Given the description of an element on the screen output the (x, y) to click on. 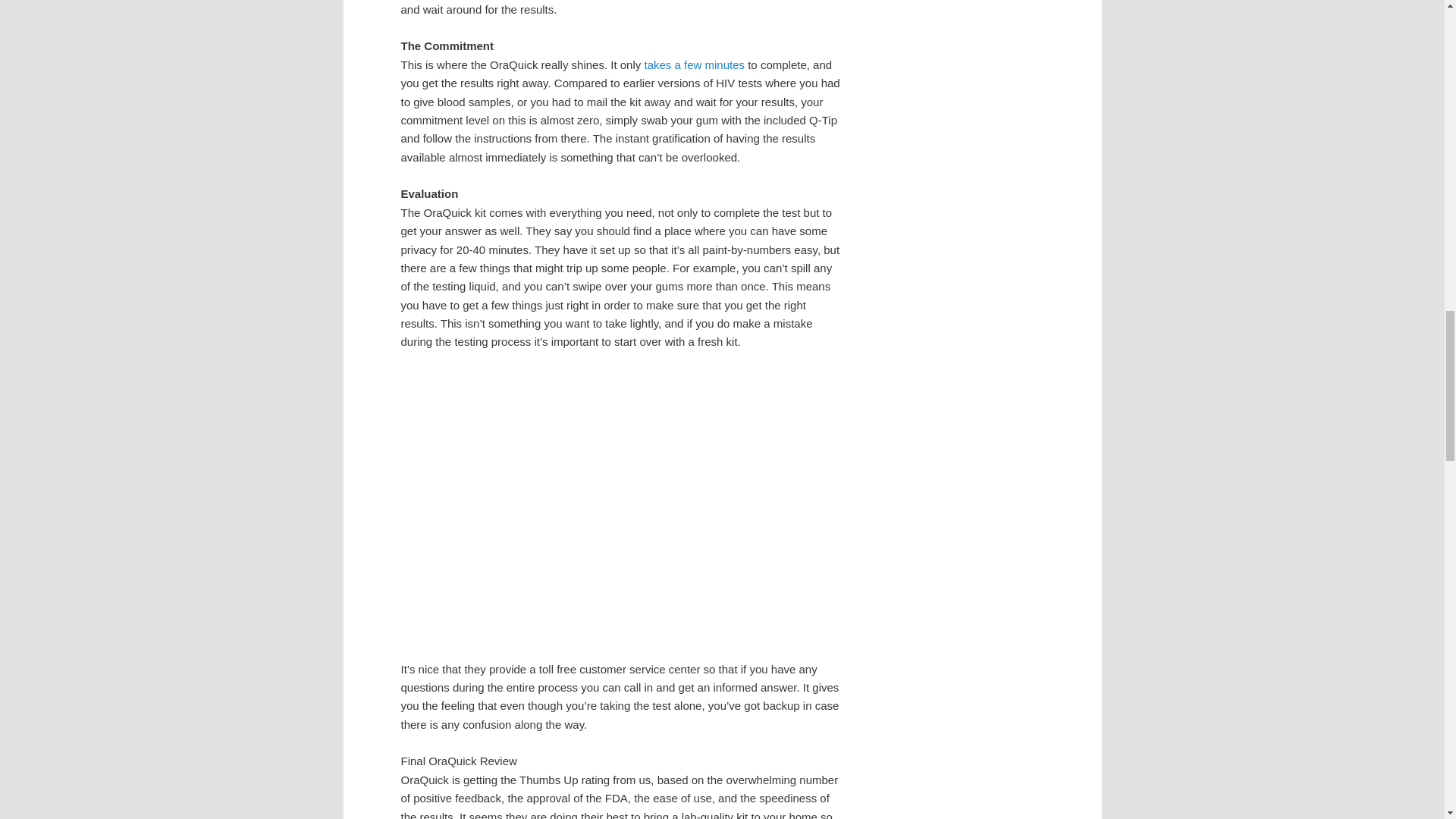
takes a few minutes (693, 64)
